Given the description of an element on the screen output the (x, y) to click on. 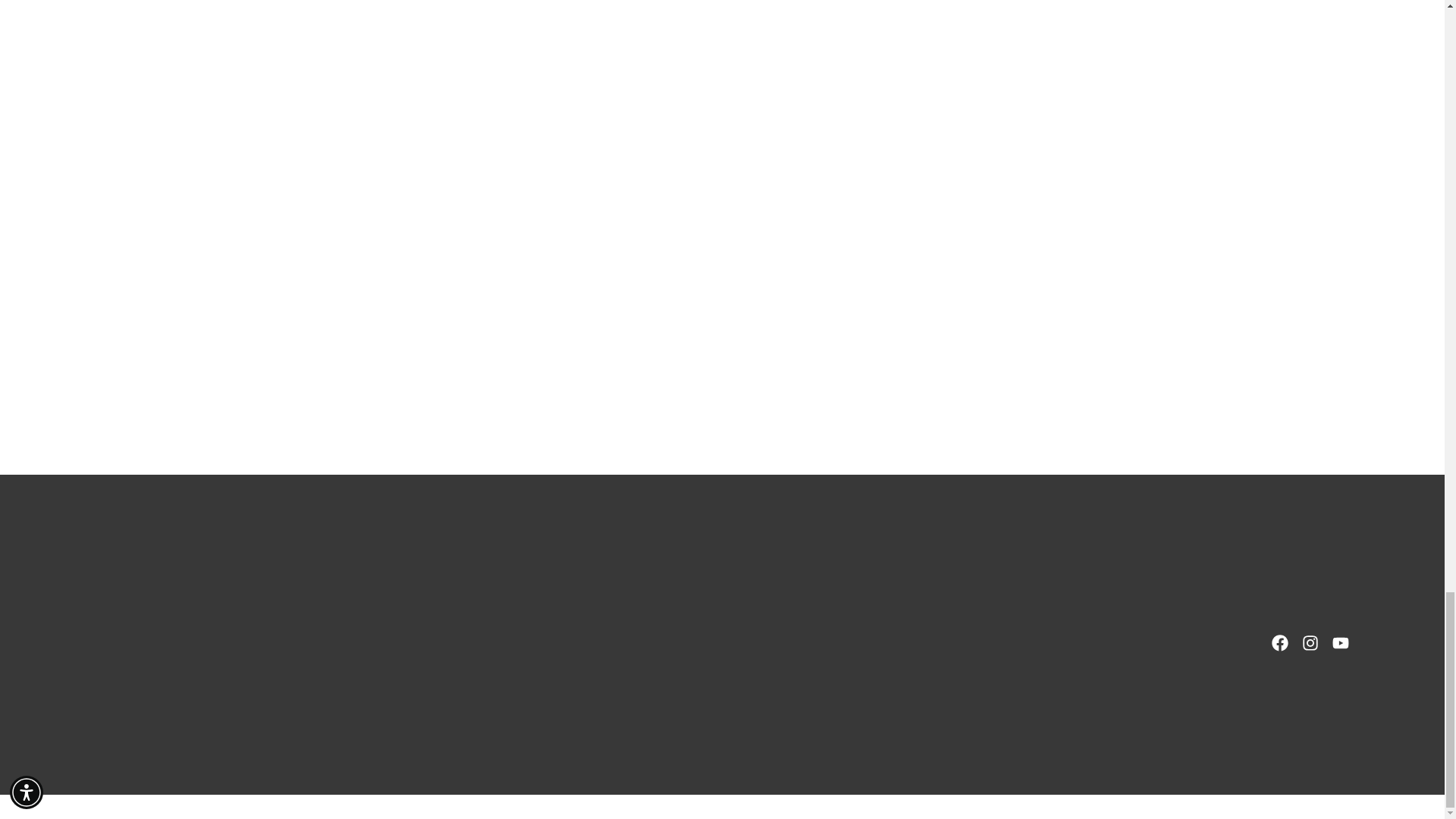
Instagram (1309, 643)
Facebook (1280, 643)
Youtube (1339, 643)
